Given the description of an element on the screen output the (x, y) to click on. 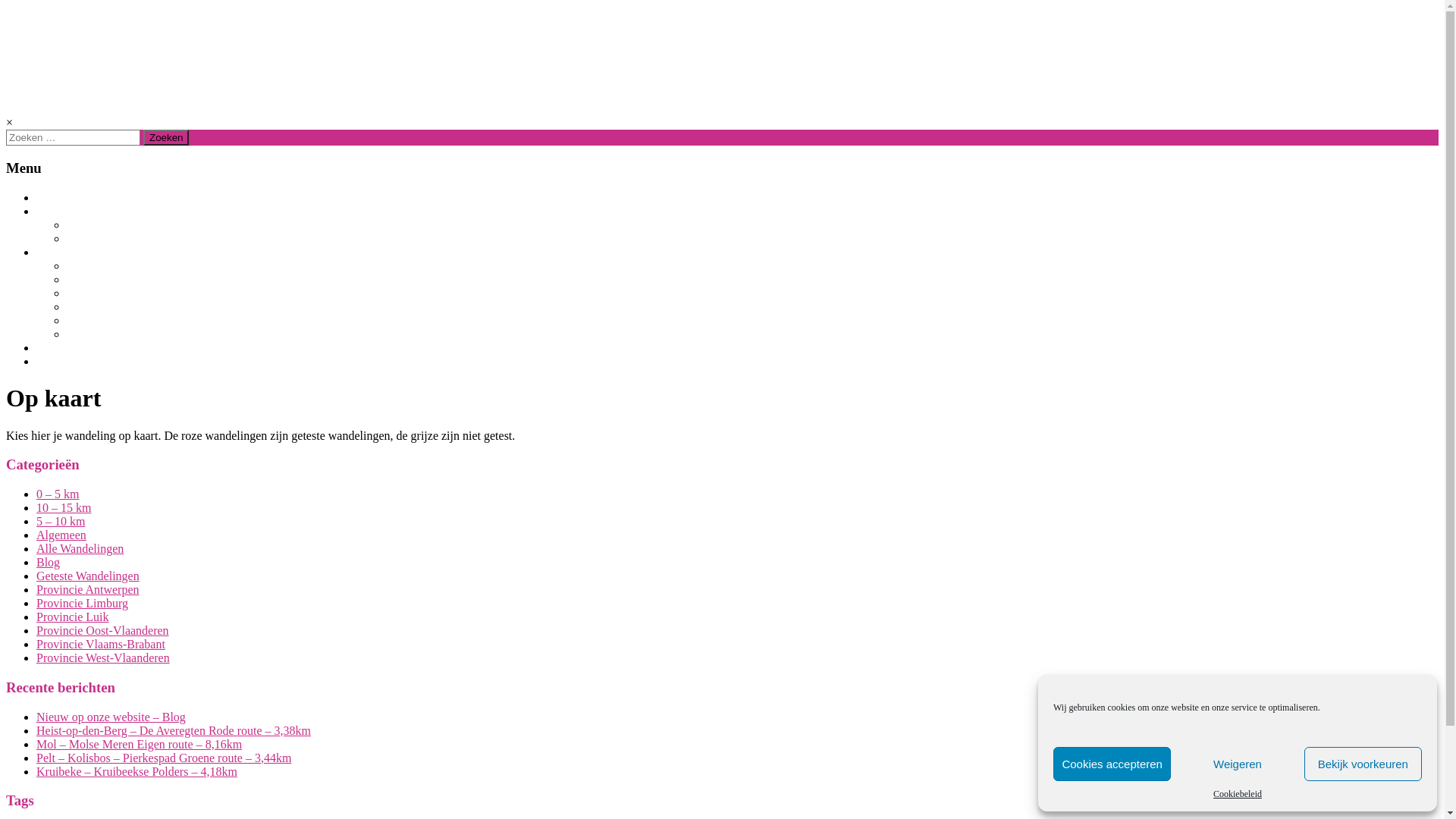
OVER ONS Element type: text (63, 347)
Provincie Limburg Element type: text (82, 602)
PER PROVINCIE Element type: text (77, 252)
Provincie West-Vlaanderen Element type: text (102, 657)
Cookiebeleid Element type: text (1237, 794)
Blog Element type: text (47, 561)
PROVINCIE ANTWERPEN Element type: text (131, 279)
ALLE WANDELINGEN Element type: text (120, 225)
Provincie Luik Element type: text (72, 616)
PROVINCIE LUIK Element type: text (109, 334)
GETESTE WANDELINGEN Element type: text (130, 238)
Cookies accepteren Element type: text (1111, 763)
Alle Wandelingen Element type: text (79, 548)
PROVINCIE VLAAMS-BRABANT Element type: text (148, 293)
PROVINCIE LIMBURG Element type: text (121, 266)
Provincie Oost-Vlaanderen Element type: text (102, 630)
Bekijk voorkeuren Element type: text (1362, 763)
PROVINCIE OOST-VLAANDEREN Element type: text (149, 306)
CONTACT Element type: text (61, 361)
Geteste Wandelingen Element type: text (87, 575)
Provincie Vlaams-Brabant Element type: text (100, 643)
BuggyProof Walking Element type: text (170, 51)
Zoeken Element type: text (165, 137)
PROVINCIE WEST-VLAANDEREN Element type: text (149, 320)
Provincie Antwerpen Element type: text (87, 589)
Weigeren Element type: text (1236, 763)
Algemeen Element type: text (61, 534)
BLOG Element type: text (50, 197)
WANDELINGEN Element type: text (75, 211)
